Given the description of an element on the screen output the (x, y) to click on. 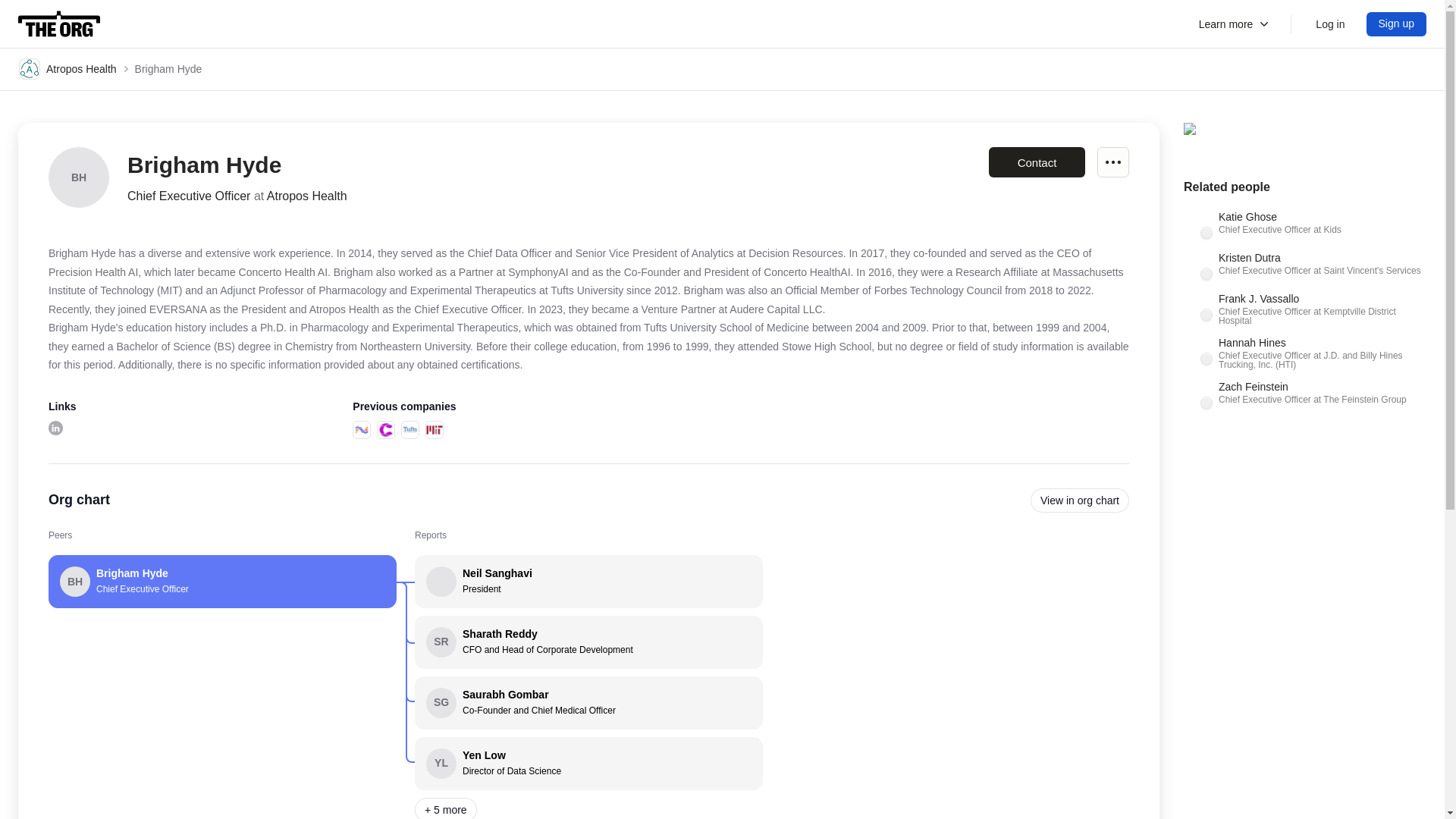
Atropos Health (67, 68)
Sign up (1396, 24)
The Org Home (58, 23)
ConcertAI (385, 429)
View in org chart (1079, 500)
Learn more (1234, 24)
Join, edit and report menu (1113, 162)
Tufts University (410, 429)
